Given the description of an element on the screen output the (x, y) to click on. 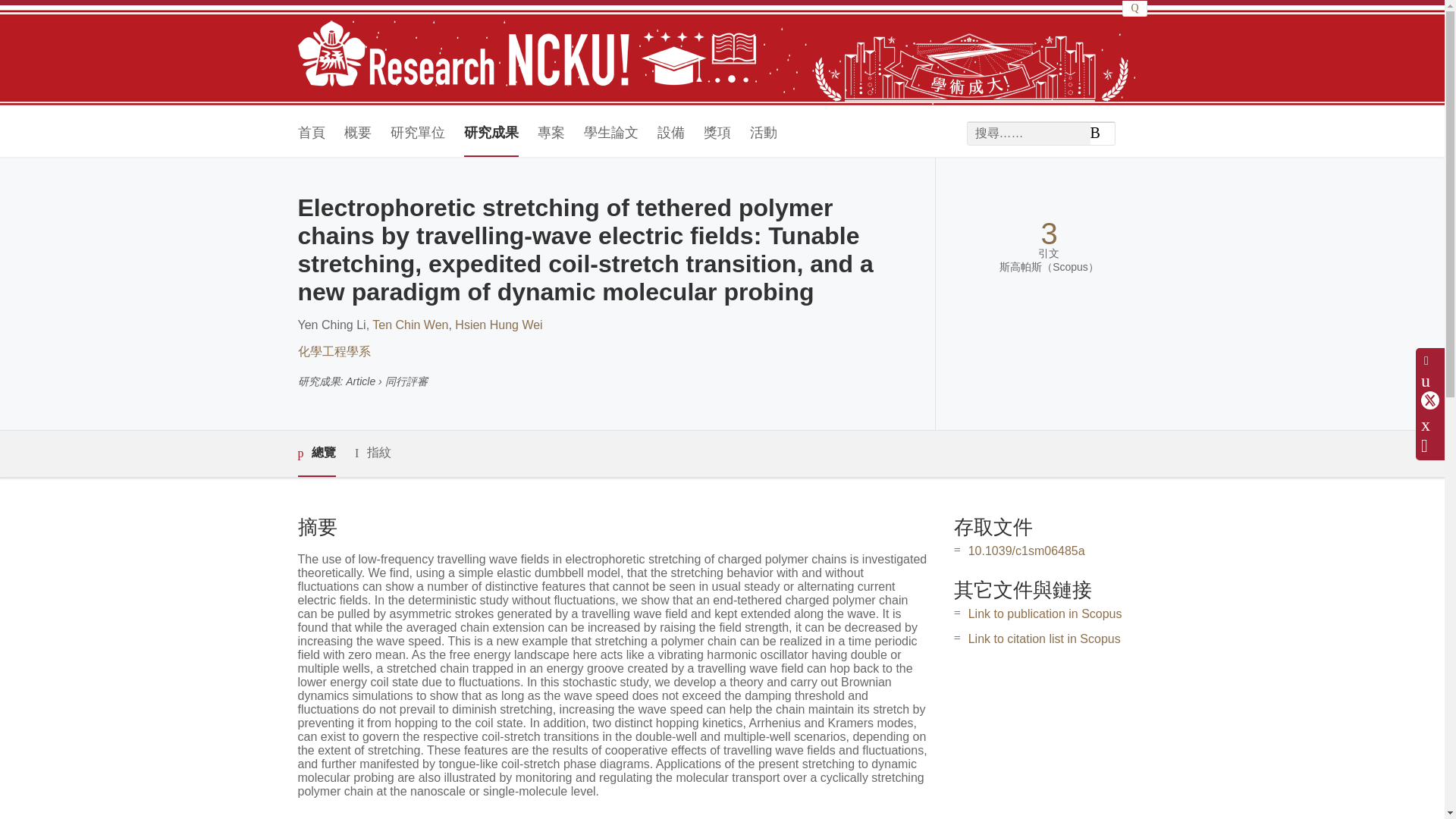
Link to citation list in Scopus (1044, 638)
Hsien Hung Wei (497, 324)
Link to publication in Scopus (1045, 613)
Ten Chin Wen (410, 324)
